Given the description of an element on the screen output the (x, y) to click on. 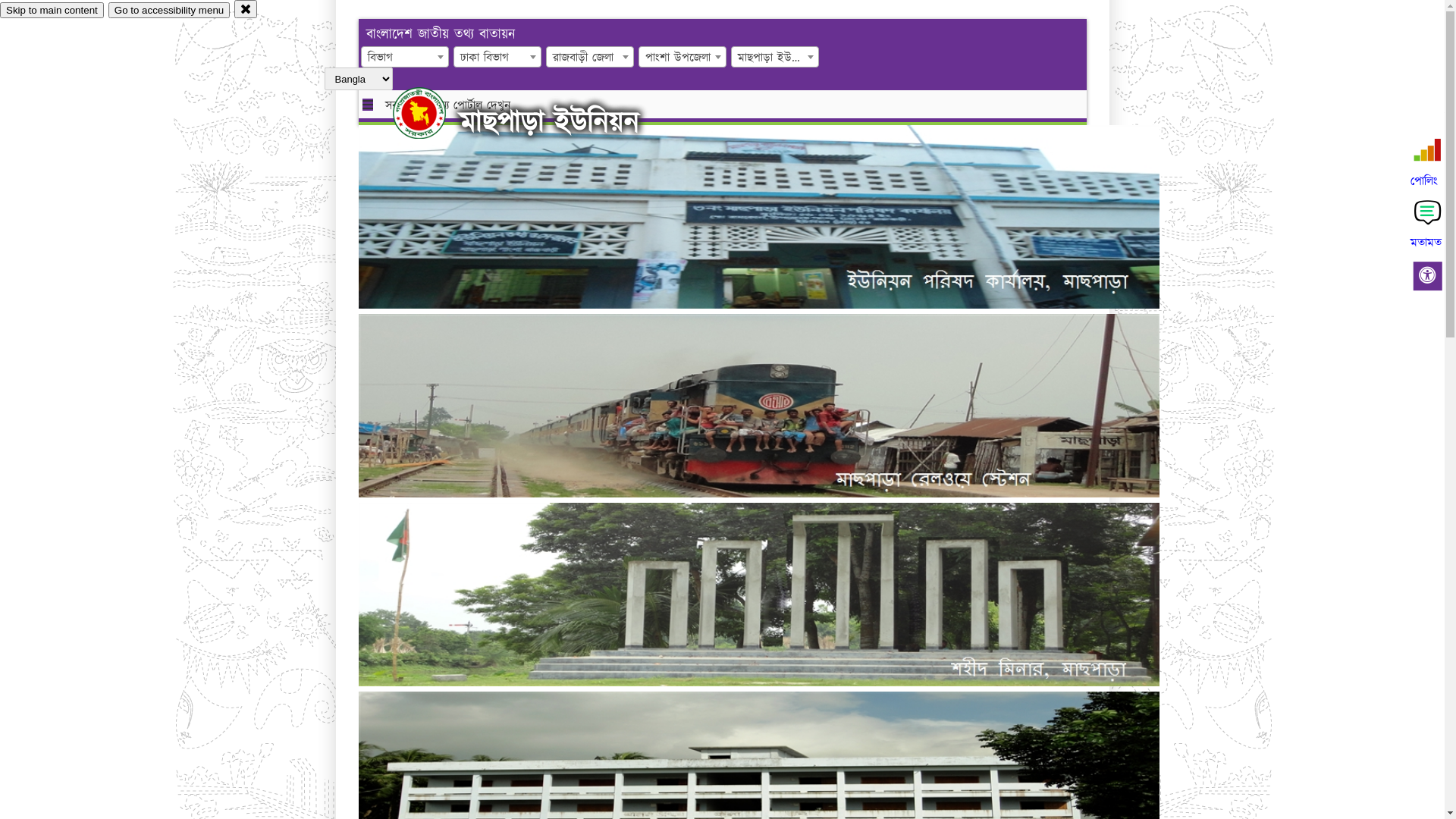
Go to accessibility menu Element type: text (168, 10)
close Element type: hover (245, 9)

                
             Element type: hover (431, 112)
Skip to main content Element type: text (51, 10)
